Given the description of an element on the screen output the (x, y) to click on. 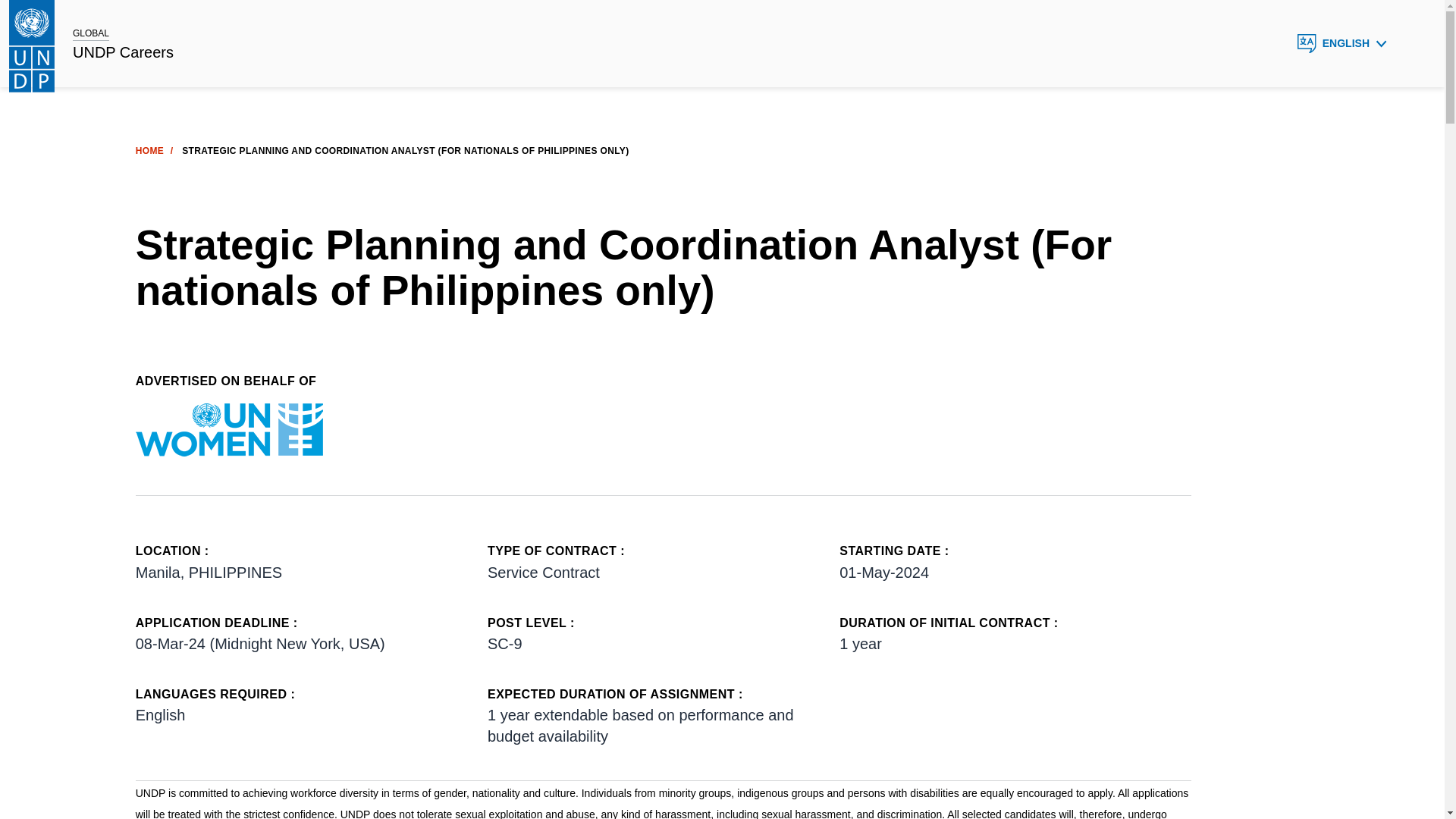
GLOBAL (90, 32)
HOME (149, 150)
UNDP Careers (122, 52)
ENGLISH (1342, 43)
